Given the description of an element on the screen output the (x, y) to click on. 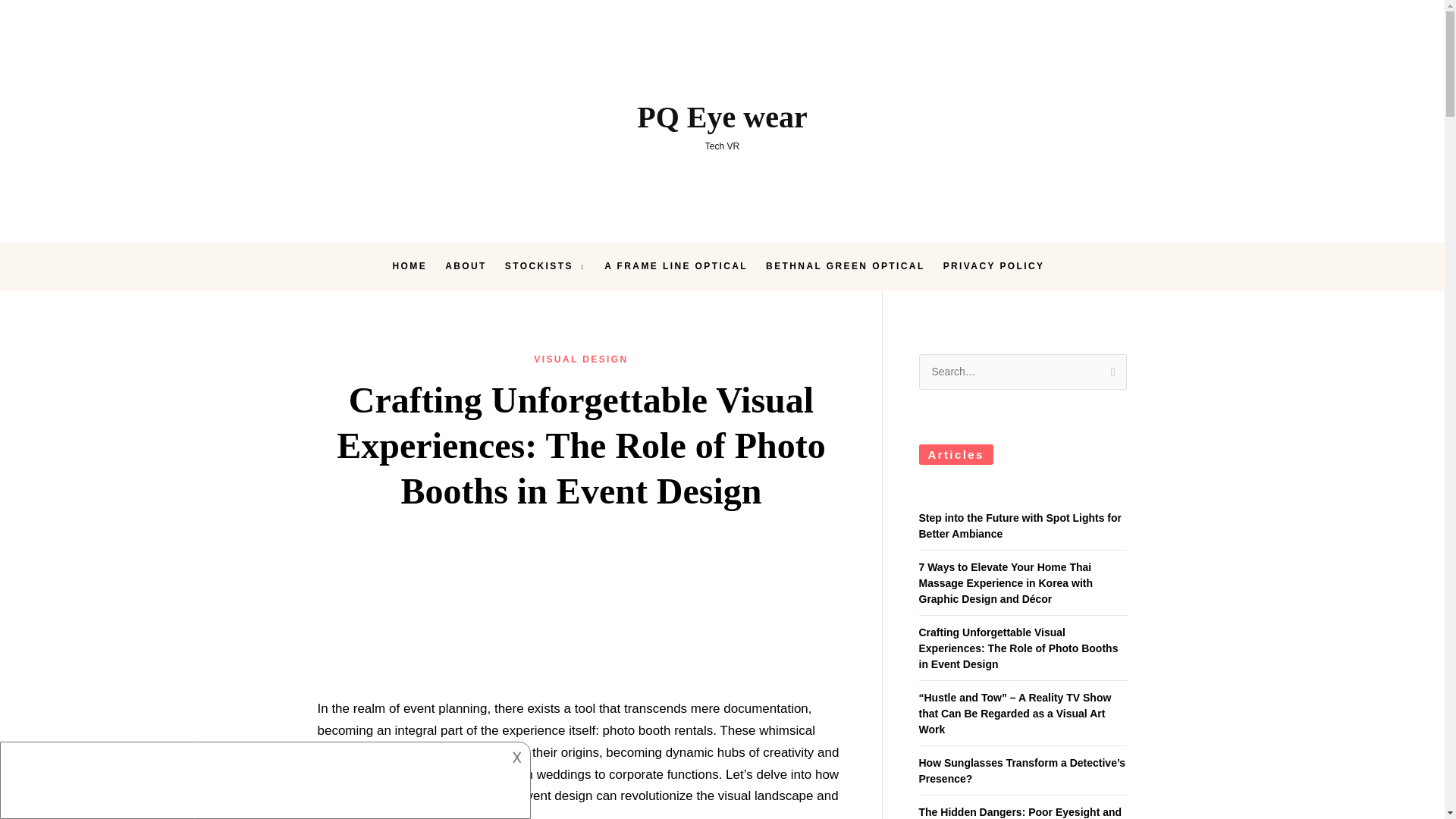
A FRAME LINE OPTICAL (675, 266)
ABOUT (466, 266)
BETHNAL GREEN OPTICAL (845, 266)
description (252, 780)
VISUAL DESIGN (580, 359)
PRIVACY POLICY (994, 266)
Step into the Future with Spot Lights for Better Ambiance (1020, 526)
HOME (721, 125)
